Given the description of an element on the screen output the (x, y) to click on. 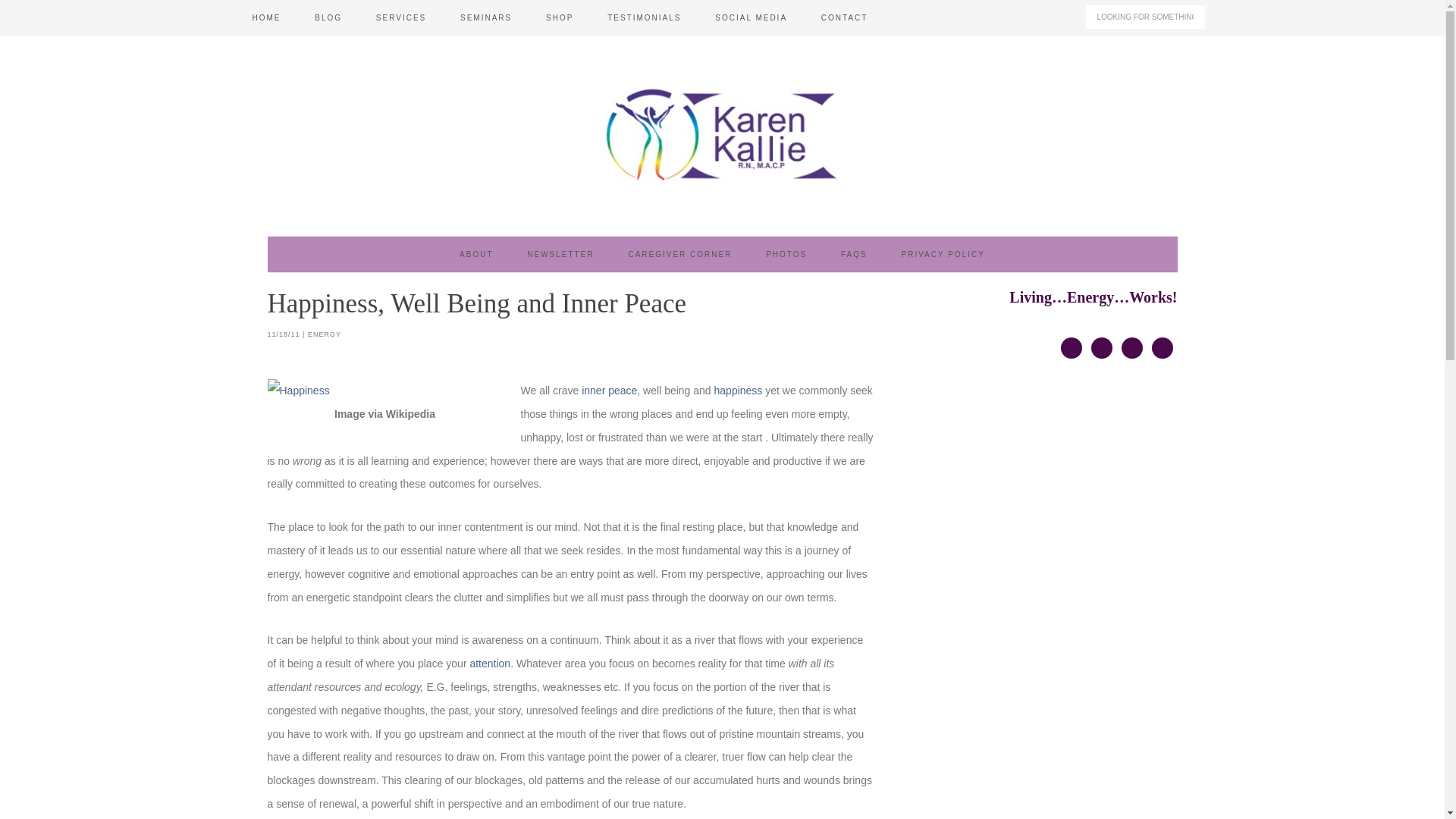
HOME (265, 18)
SERVICES (401, 18)
Inner peace (608, 390)
CONTACT (844, 18)
Karen Kallie (721, 133)
PRIVACY POLICY (941, 253)
Happiness (738, 390)
NEWSLETTER (560, 253)
